Given the description of an element on the screen output the (x, y) to click on. 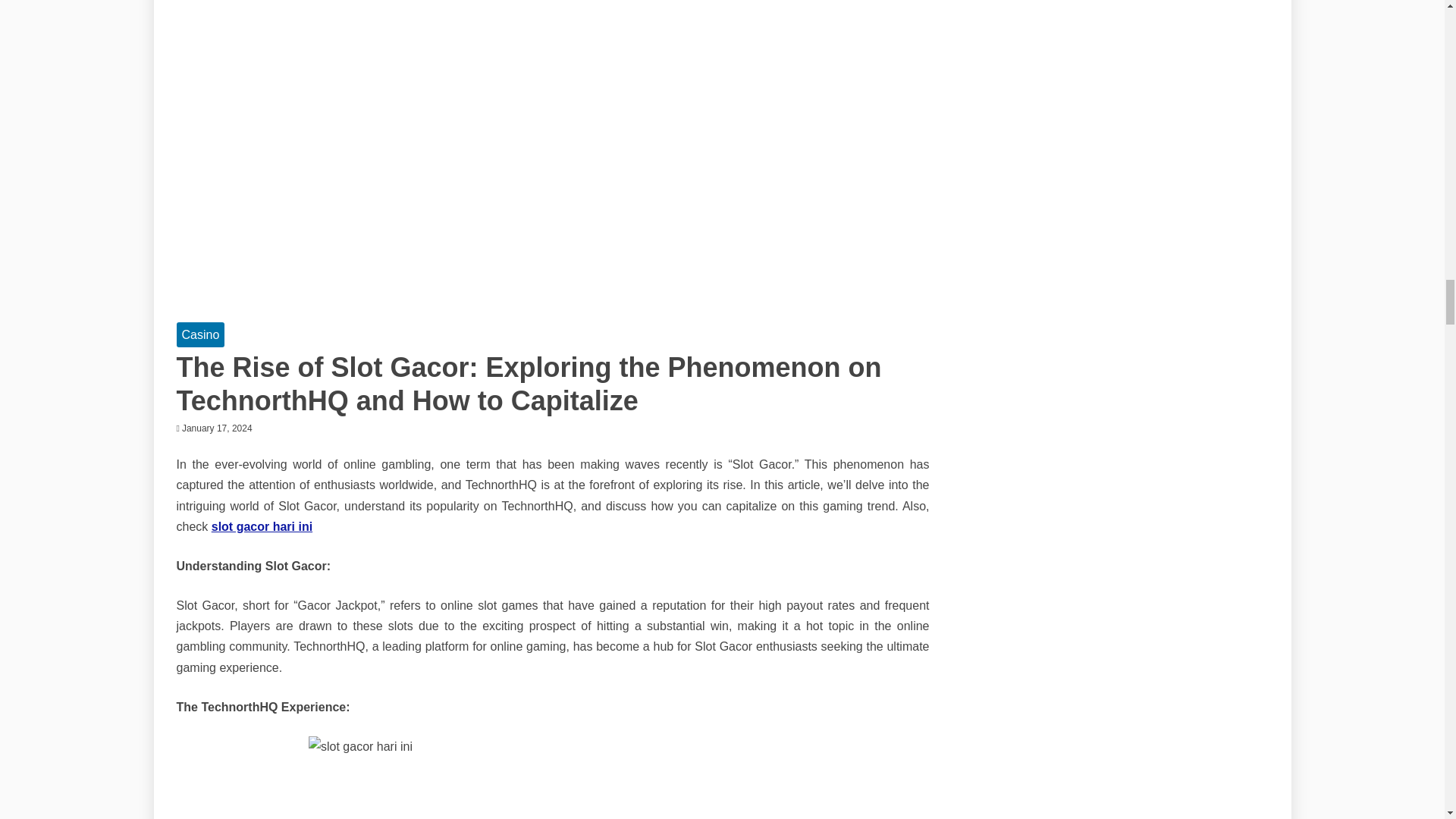
January 17, 2024 (216, 428)
Casino (200, 334)
slot gacor hari ini (262, 526)
